Given the description of an element on the screen output the (x, y) to click on. 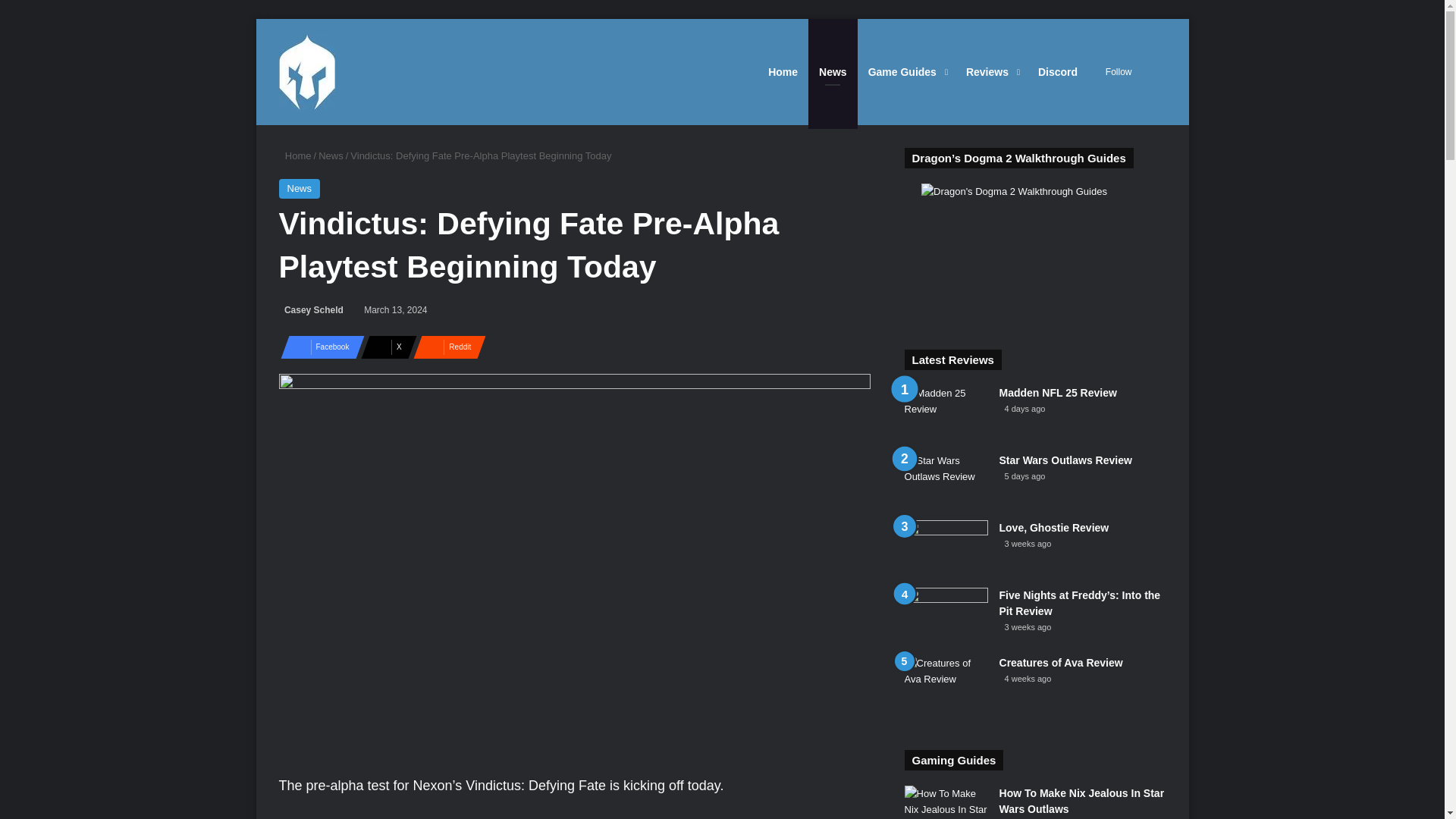
News (330, 155)
Casey Scheld (311, 309)
Game Guides (906, 71)
Game Guides (906, 71)
News (299, 189)
Casey Scheld (311, 309)
X (384, 346)
Facebook (318, 346)
Reddit (445, 346)
Home (295, 155)
